Given the description of an element on the screen output the (x, y) to click on. 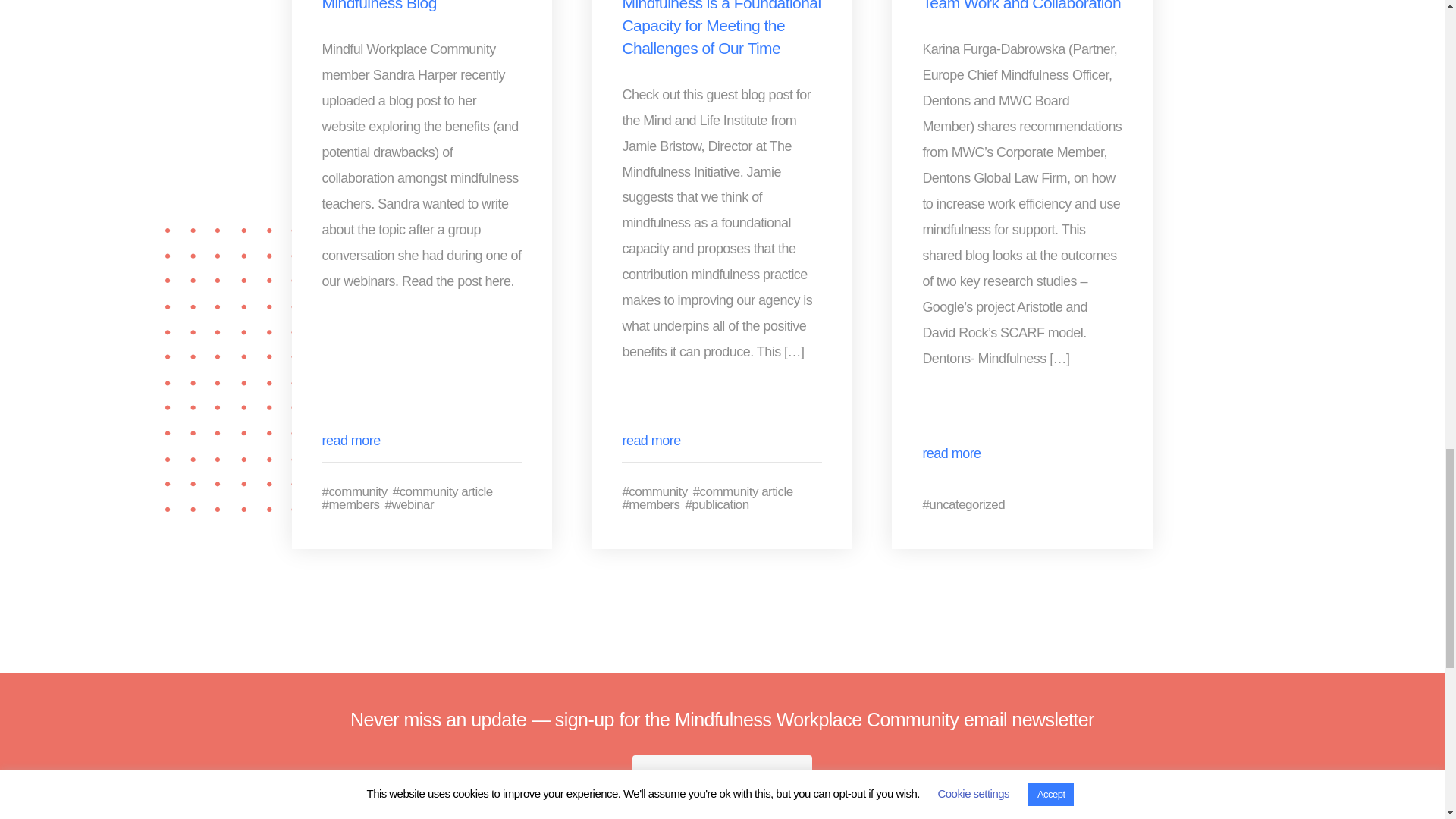
read more (350, 440)
The Role of Mindfulness in Team Work and Collaboration (1021, 5)
read more (950, 453)
read more (650, 440)
